Given the description of an element on the screen output the (x, y) to click on. 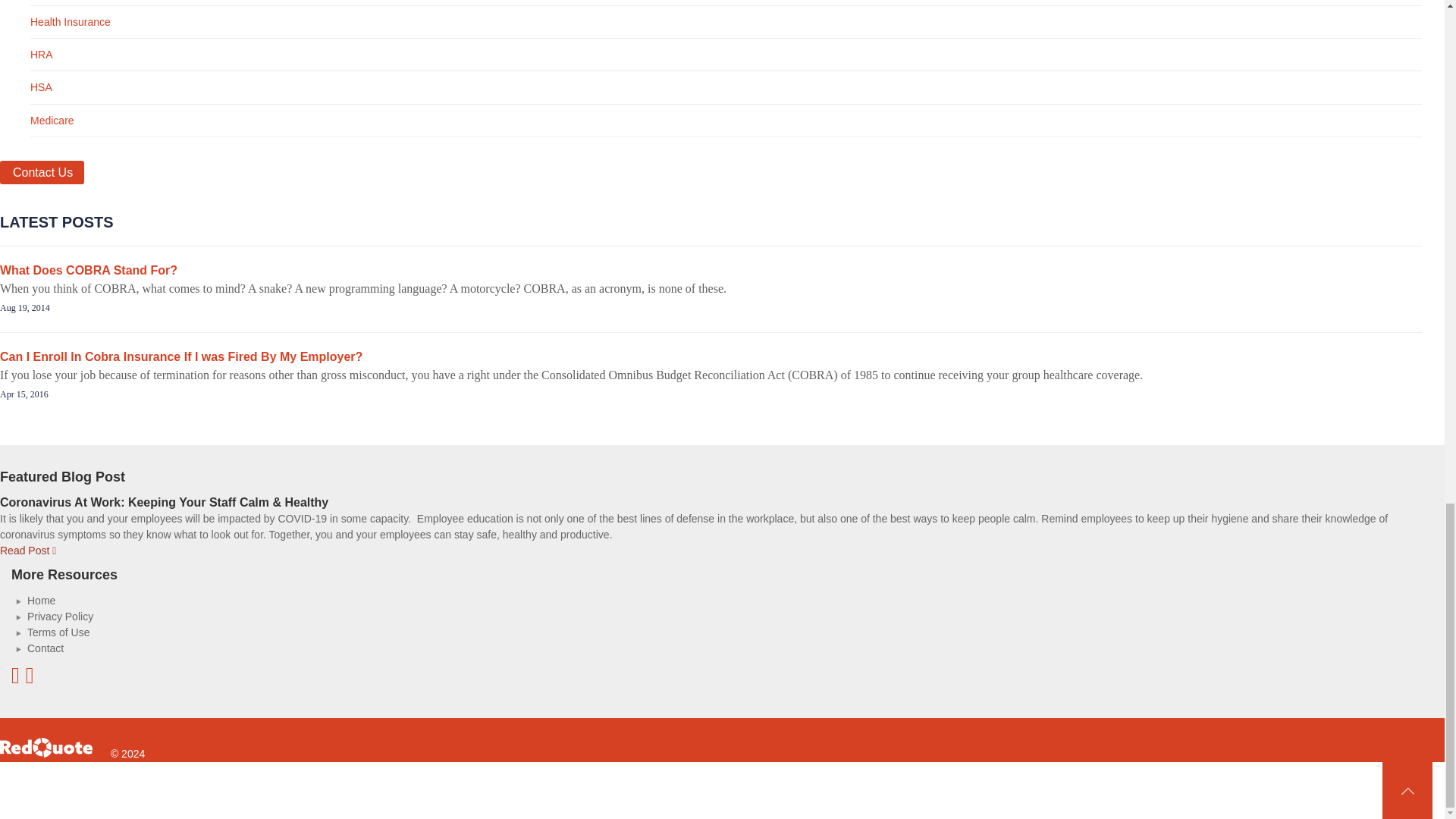
HRA (41, 54)
Health Insurance (70, 21)
